Given the description of an element on the screen output the (x, y) to click on. 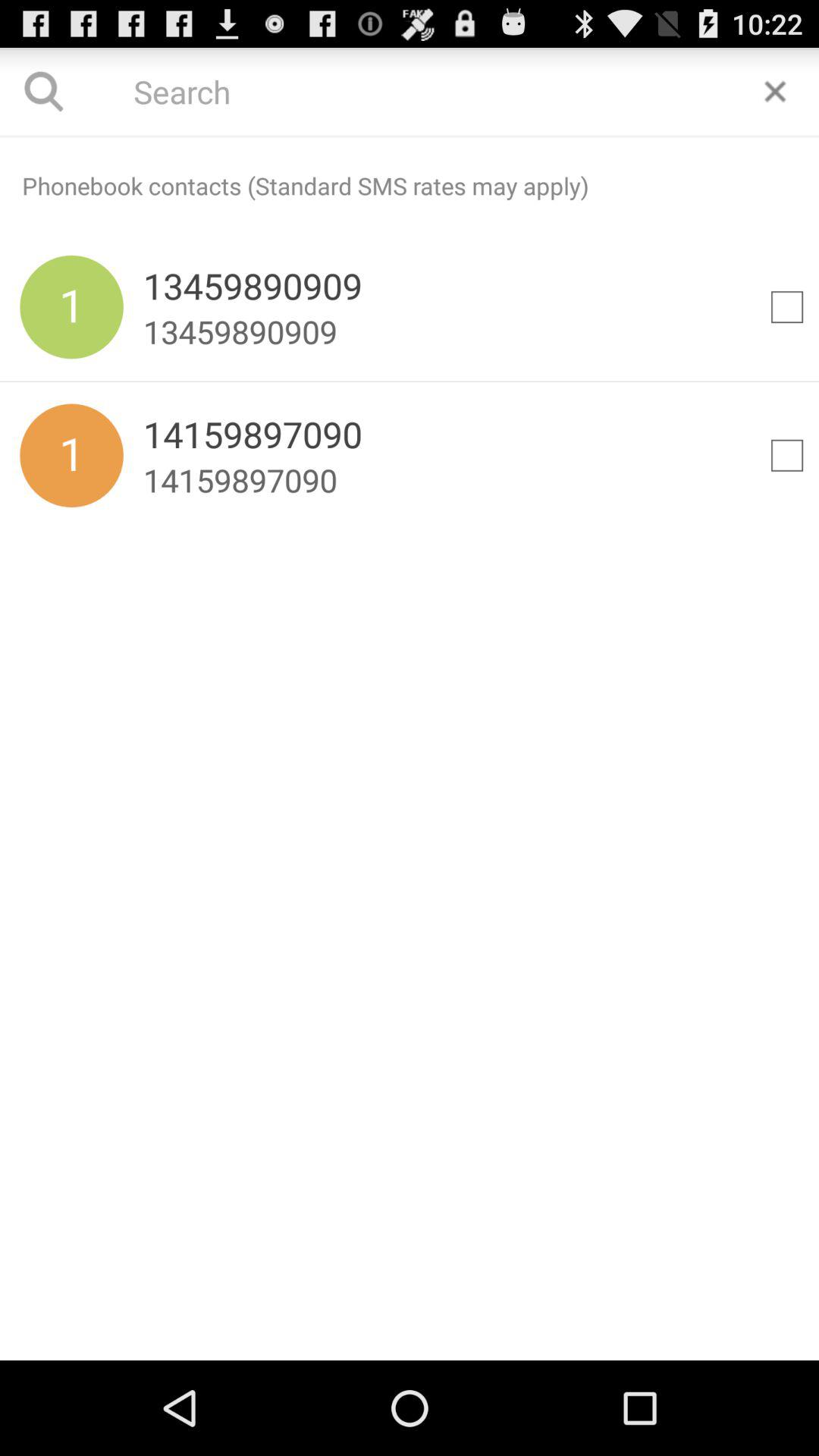
toggle selection (787, 306)
